Given the description of an element on the screen output the (x, y) to click on. 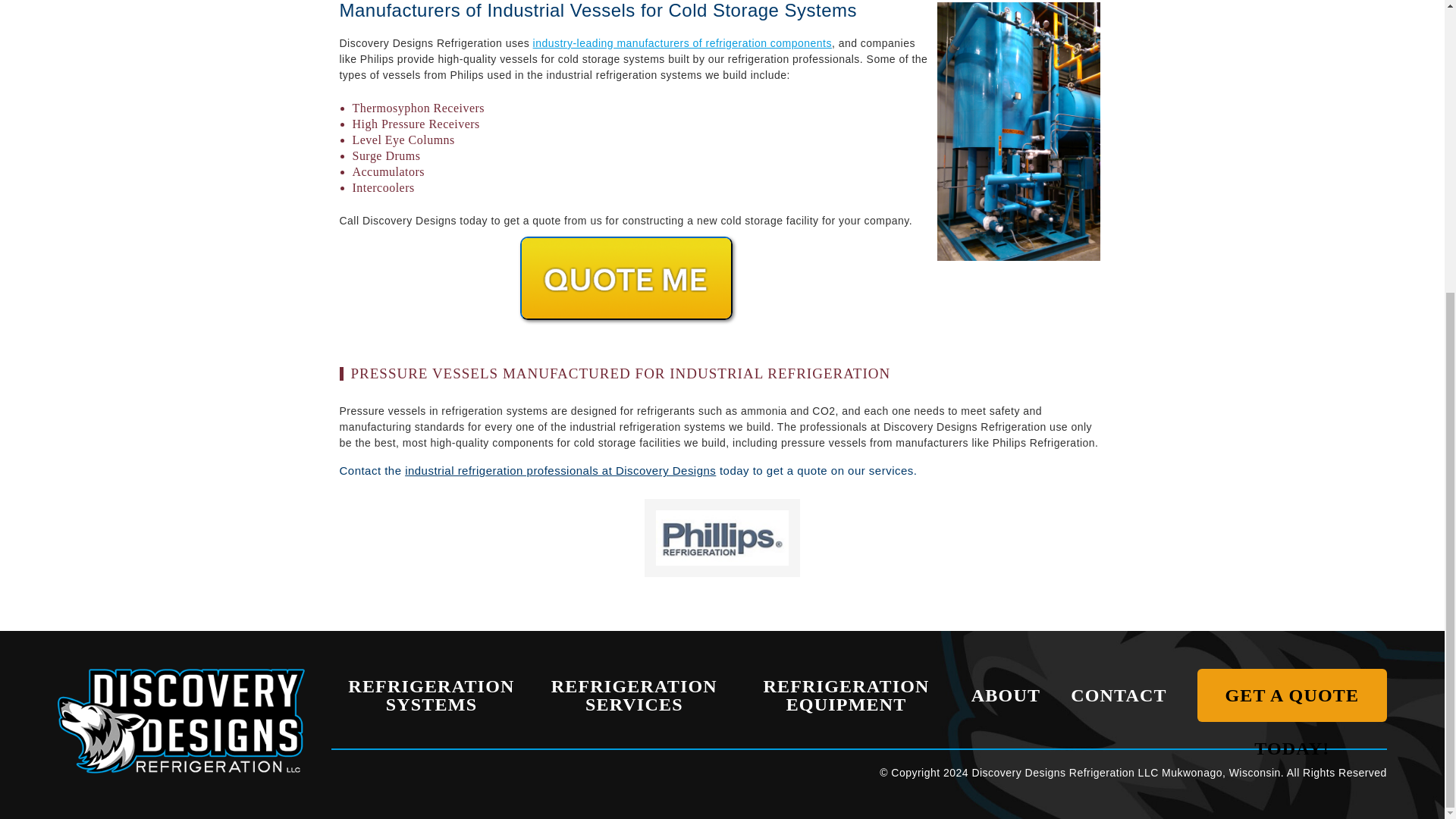
industrial refrigeration professionals at Discovery Designs (560, 470)
REFRIGERATION SERVICES (633, 695)
ABOUT (1006, 695)
REFRIGERATION EQUIPMENT (845, 695)
industry-leading manufacturers of refrigeration components (681, 42)
REFRIGERATION SYSTEMS (431, 695)
CONTACT (1118, 695)
GET A QUOTE TODAY! (1291, 695)
